Given the description of an element on the screen output the (x, y) to click on. 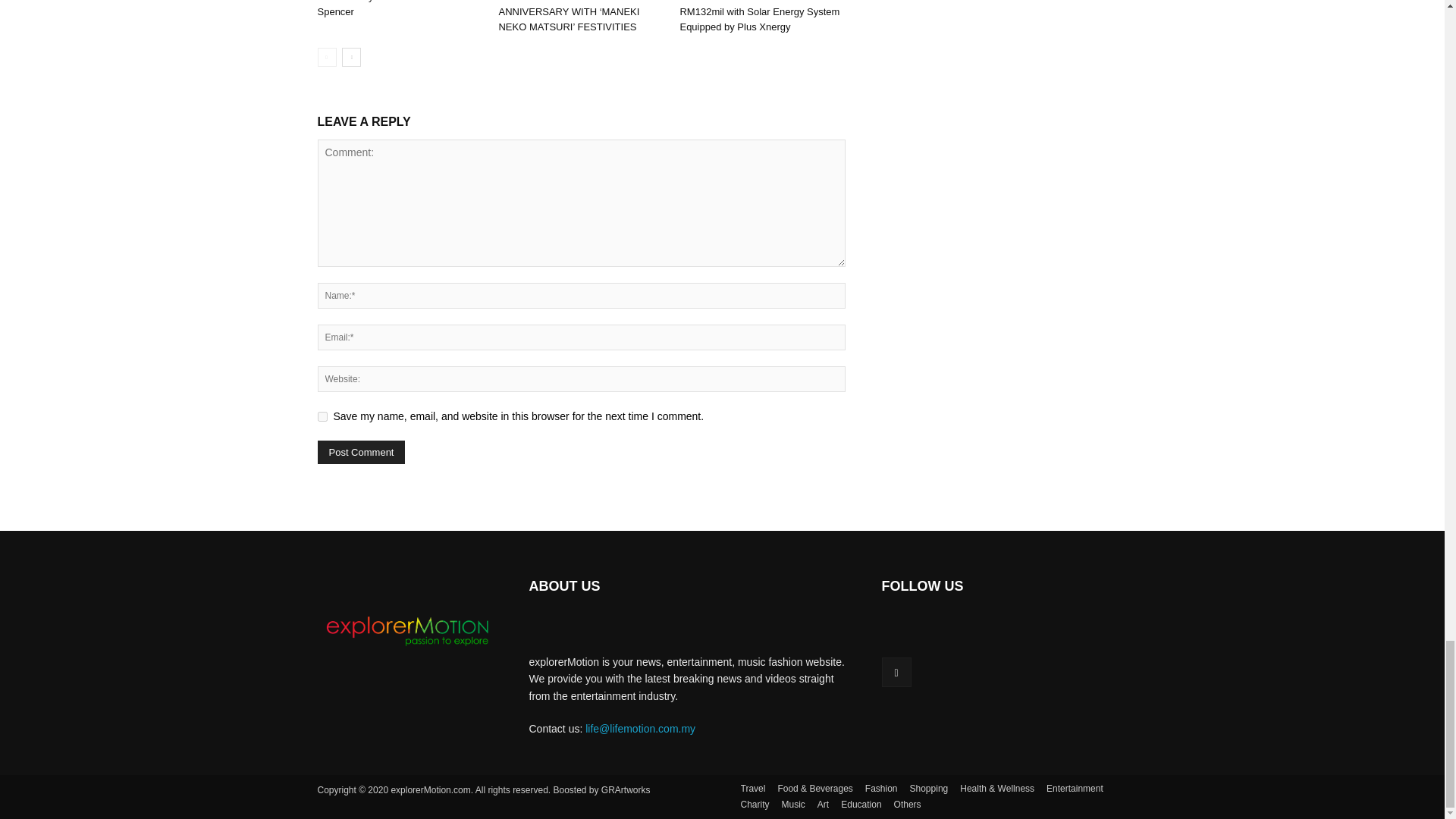
yes (321, 416)
Post Comment (360, 452)
